Given the description of an element on the screen output the (x, y) to click on. 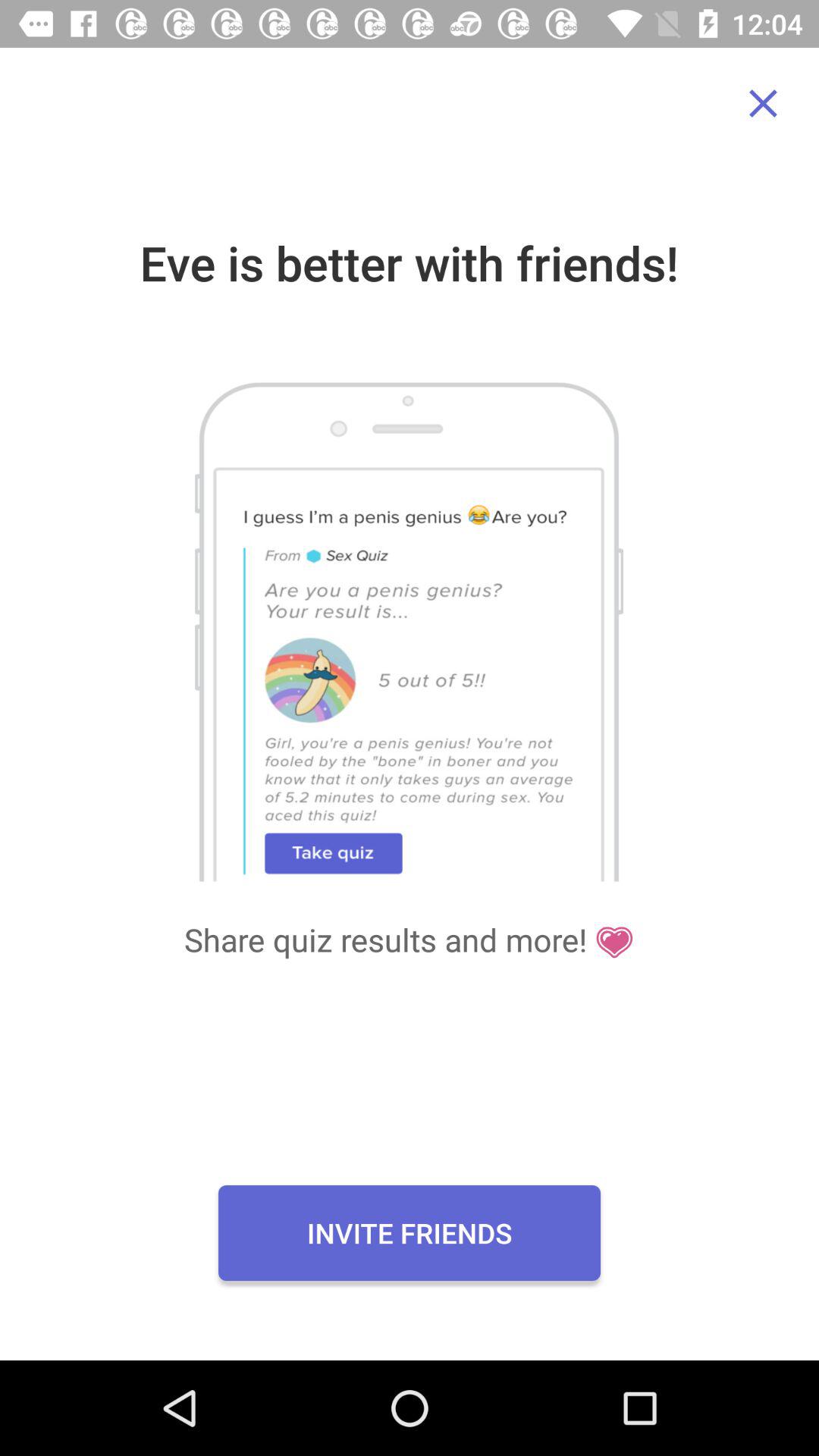
open the icon below the share quiz results icon (409, 1232)
